Given the description of an element on the screen output the (x, y) to click on. 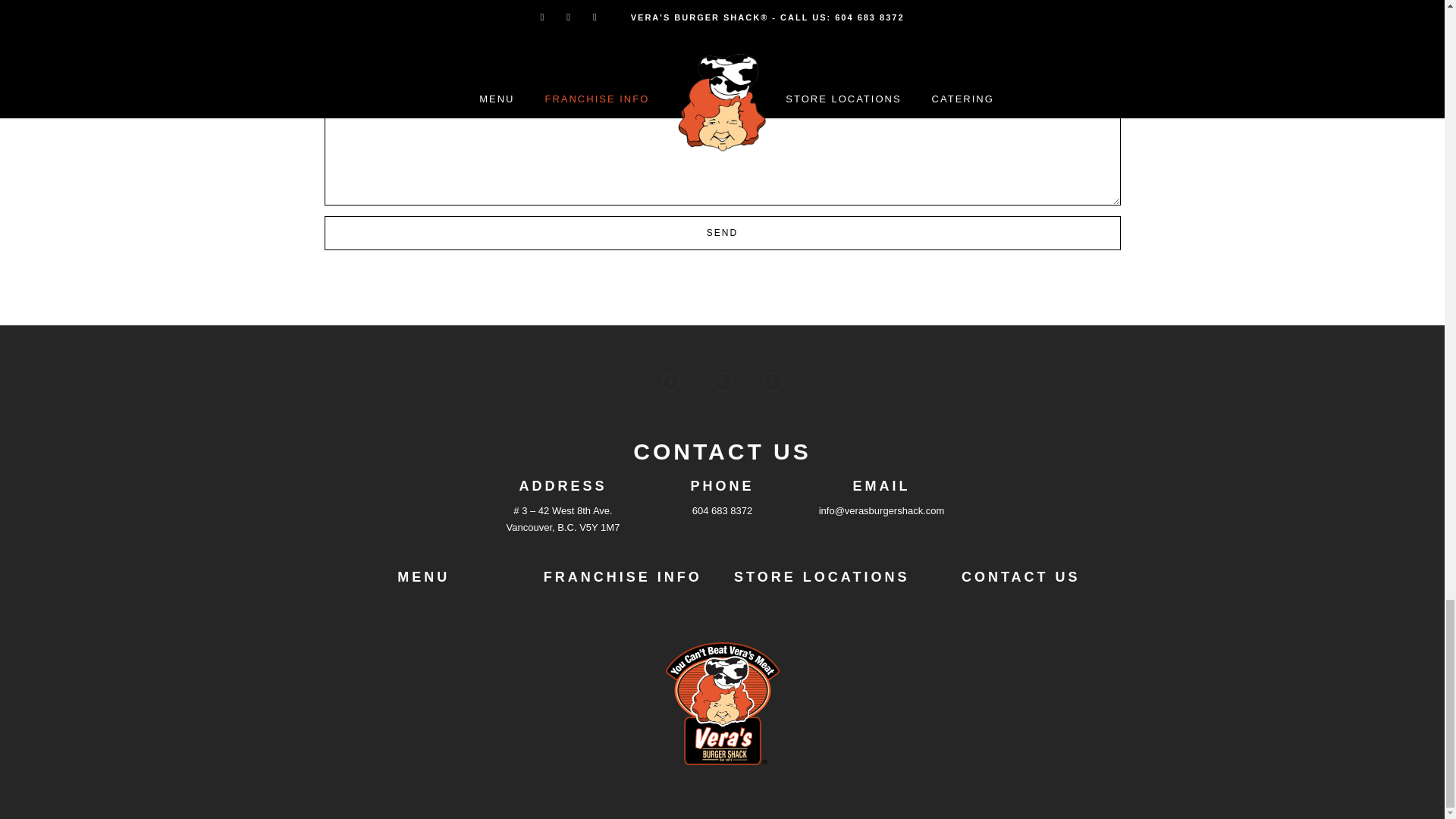
STORE LOCATIONS (820, 576)
604 683 8372 (722, 510)
Send (722, 233)
CONTACT US (1020, 576)
Send (722, 233)
MENU (423, 576)
FRANCHISE INFO (622, 576)
